Given the description of an element on the screen output the (x, y) to click on. 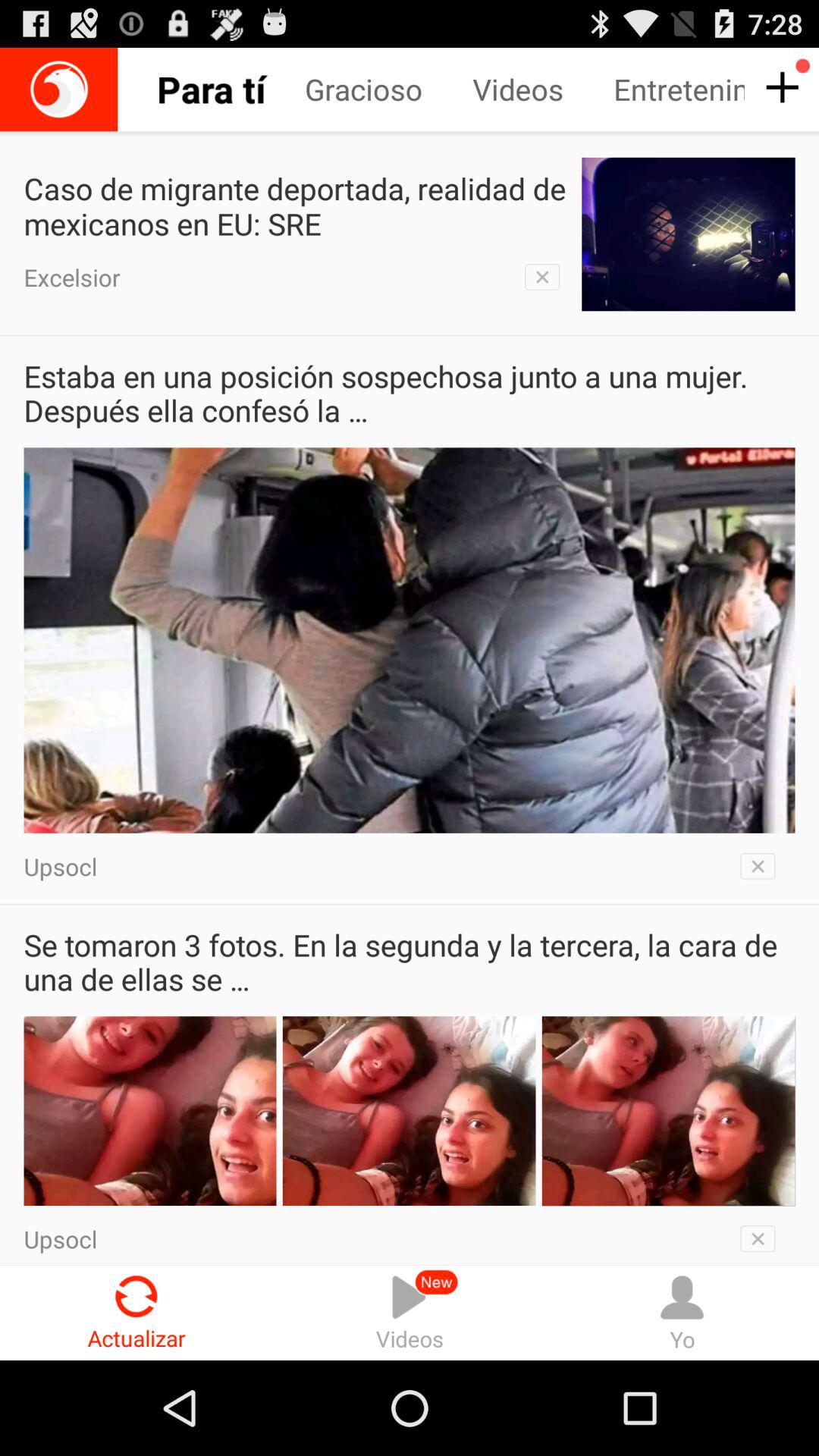
select the item to the right of videos item (682, 1312)
